Given the description of an element on the screen output the (x, y) to click on. 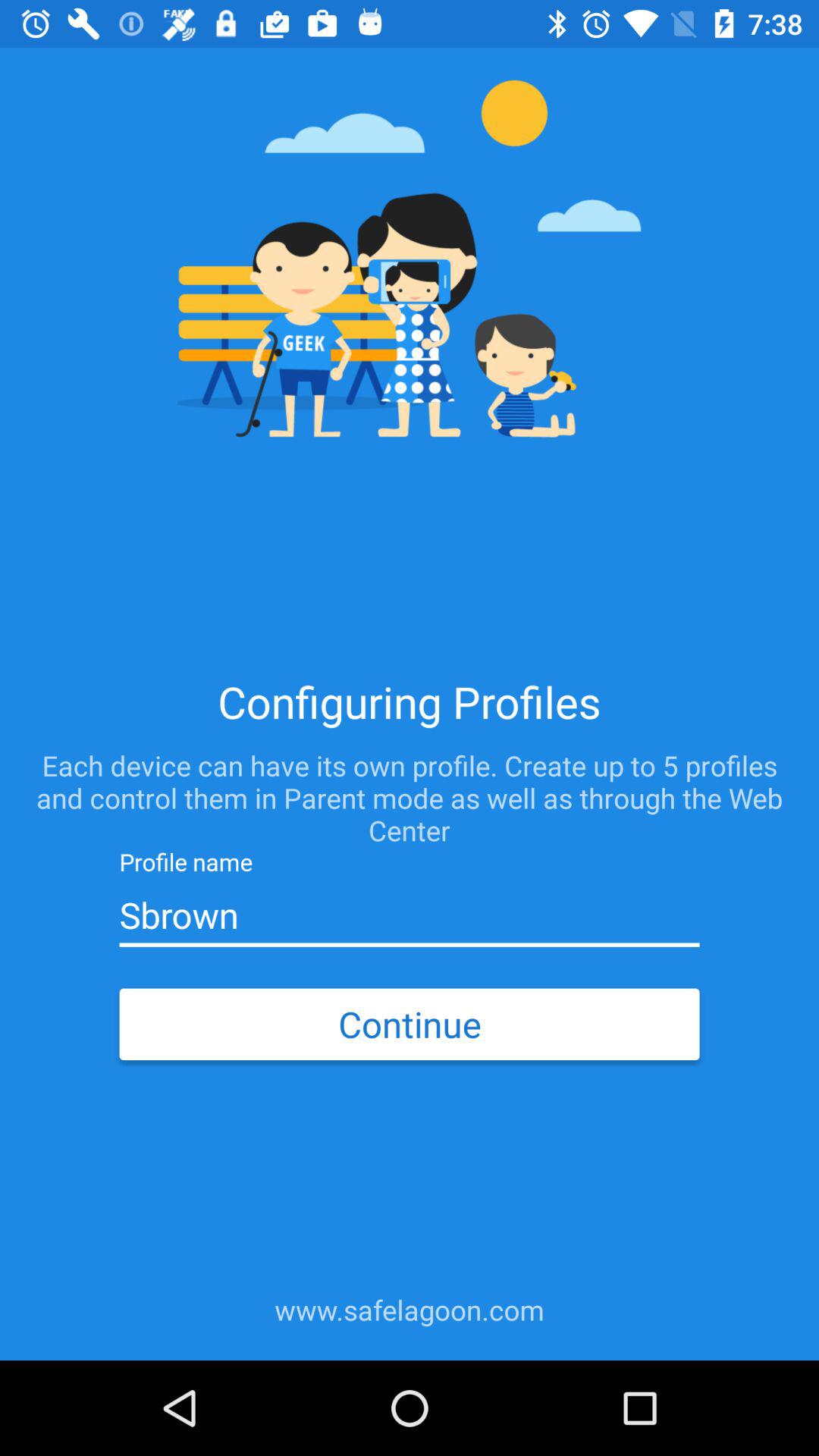
click the icon below the sbrown icon (409, 1024)
